Given the description of an element on the screen output the (x, y) to click on. 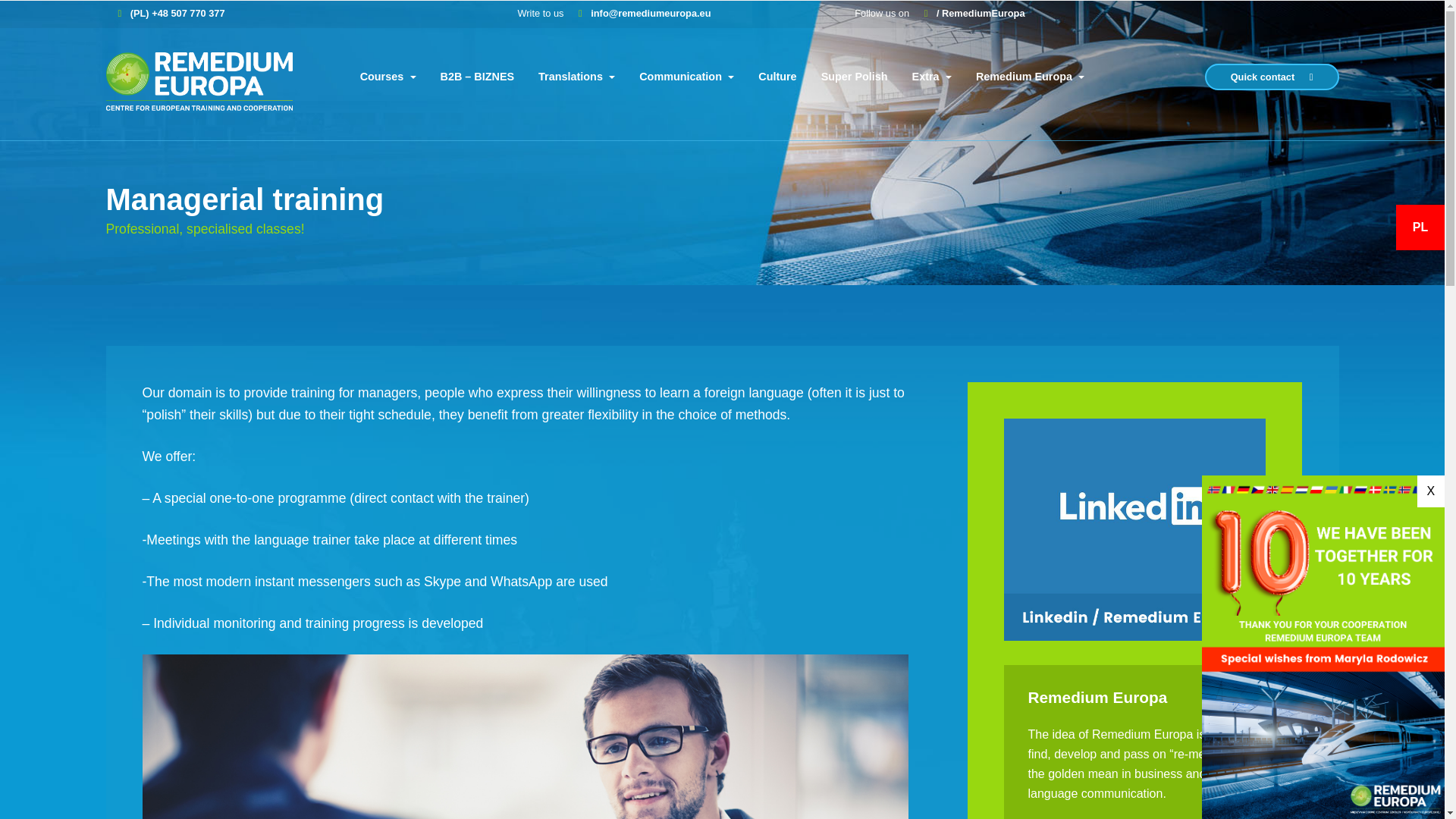
Translations (576, 77)
Courses (387, 77)
Super Polish (854, 77)
Courses (387, 77)
Obserwuj nas na Facebooku (968, 12)
Communication (686, 77)
PL (1420, 226)
